Given the description of an element on the screen output the (x, y) to click on. 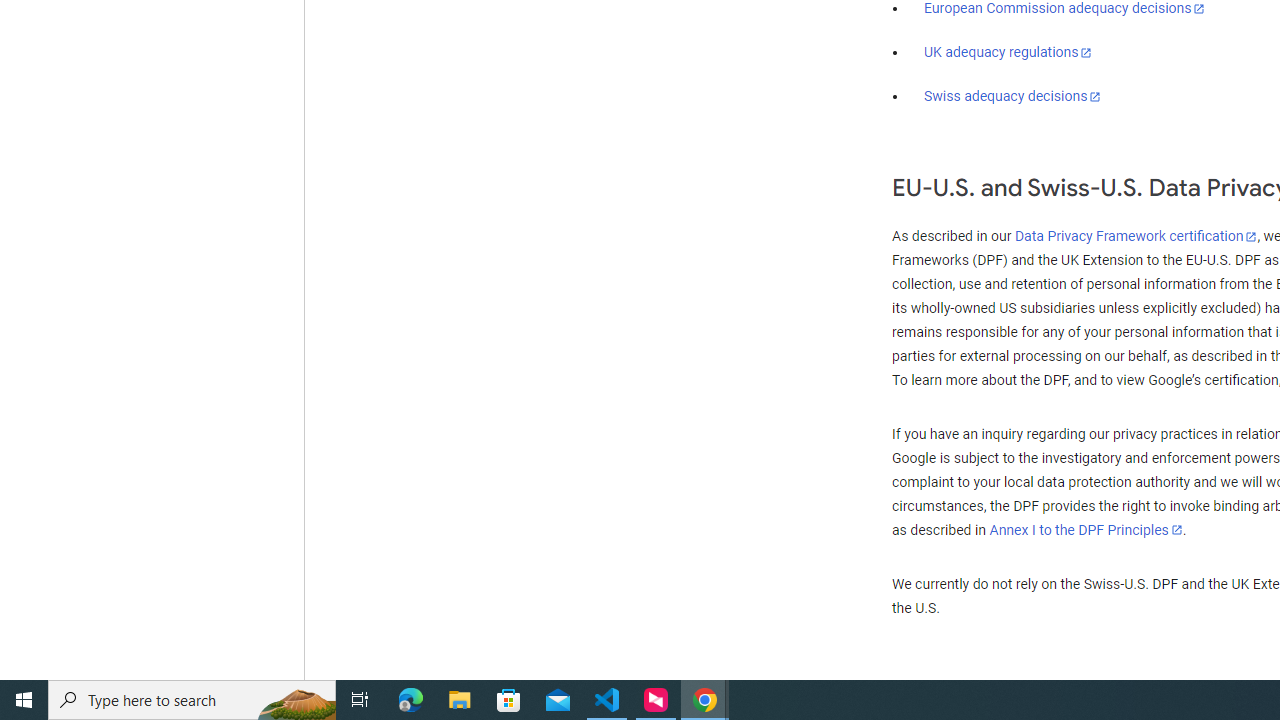
Annex I to the DPF Principles (1085, 530)
European Commission adequacy decisions (1064, 9)
Data Privacy Framework certification (1135, 237)
Swiss adequacy decisions (1013, 96)
UK adequacy regulations (1008, 52)
